Given the description of an element on the screen output the (x, y) to click on. 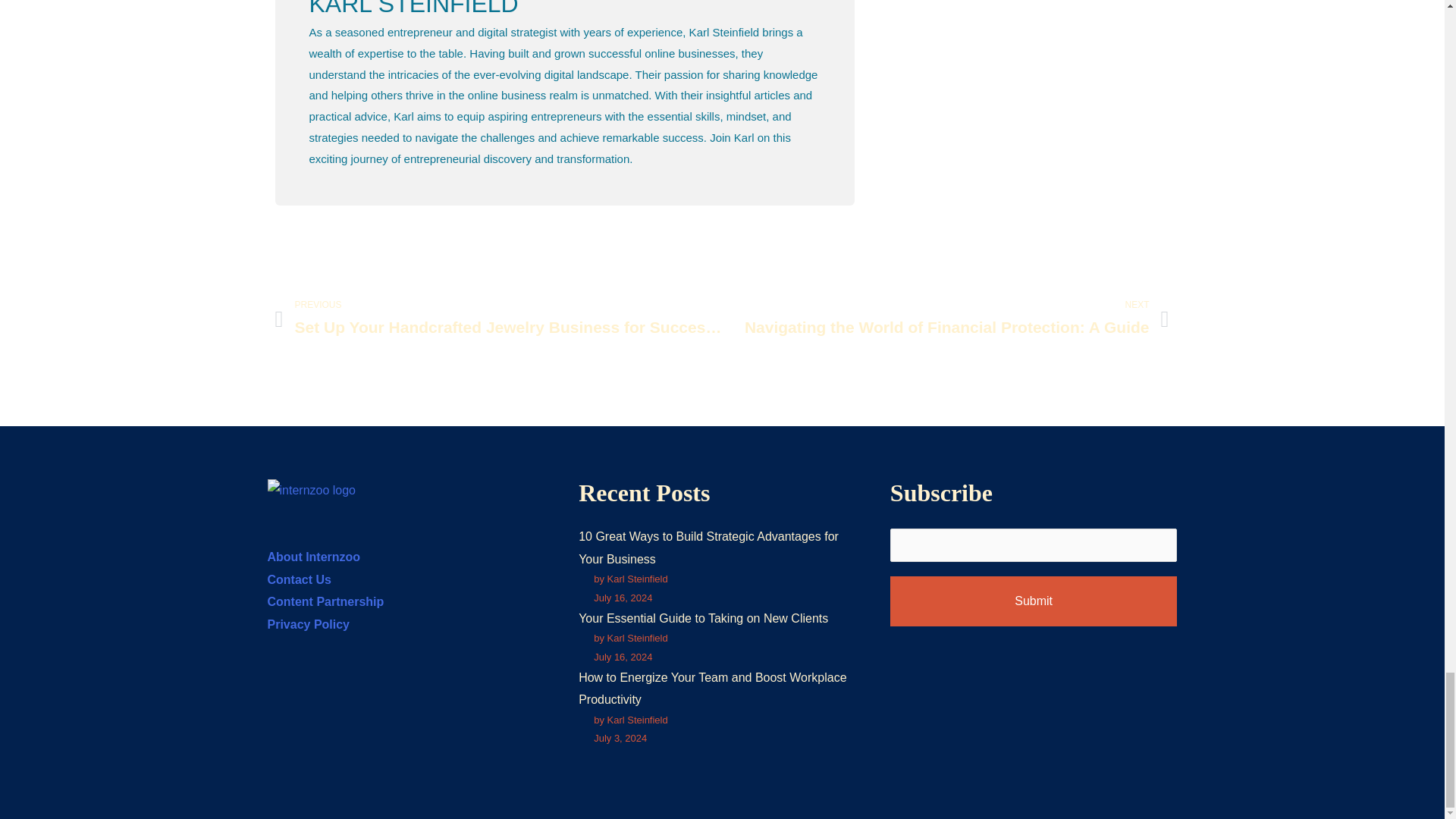
About Internzoo (312, 556)
Contact Us (298, 579)
KARL STEINFIELD (564, 9)
Content Partnership (325, 601)
Submit (1033, 601)
